Given the description of an element on the screen output the (x, y) to click on. 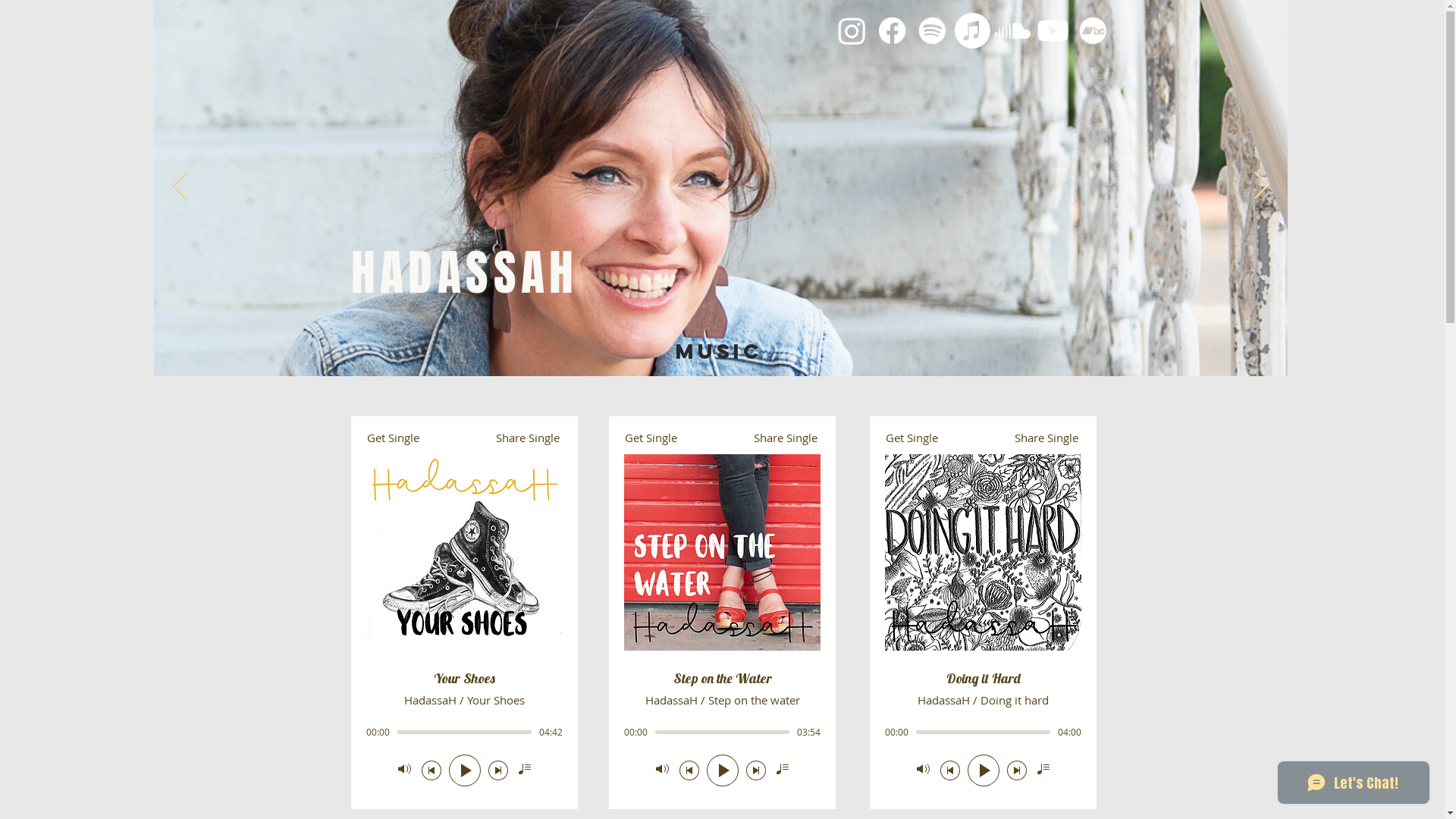
Wix Music Element type: hover (463, 612)
Wix Music Element type: hover (982, 612)
Wix Music Element type: hover (721, 612)
